Given the description of an element on the screen output the (x, y) to click on. 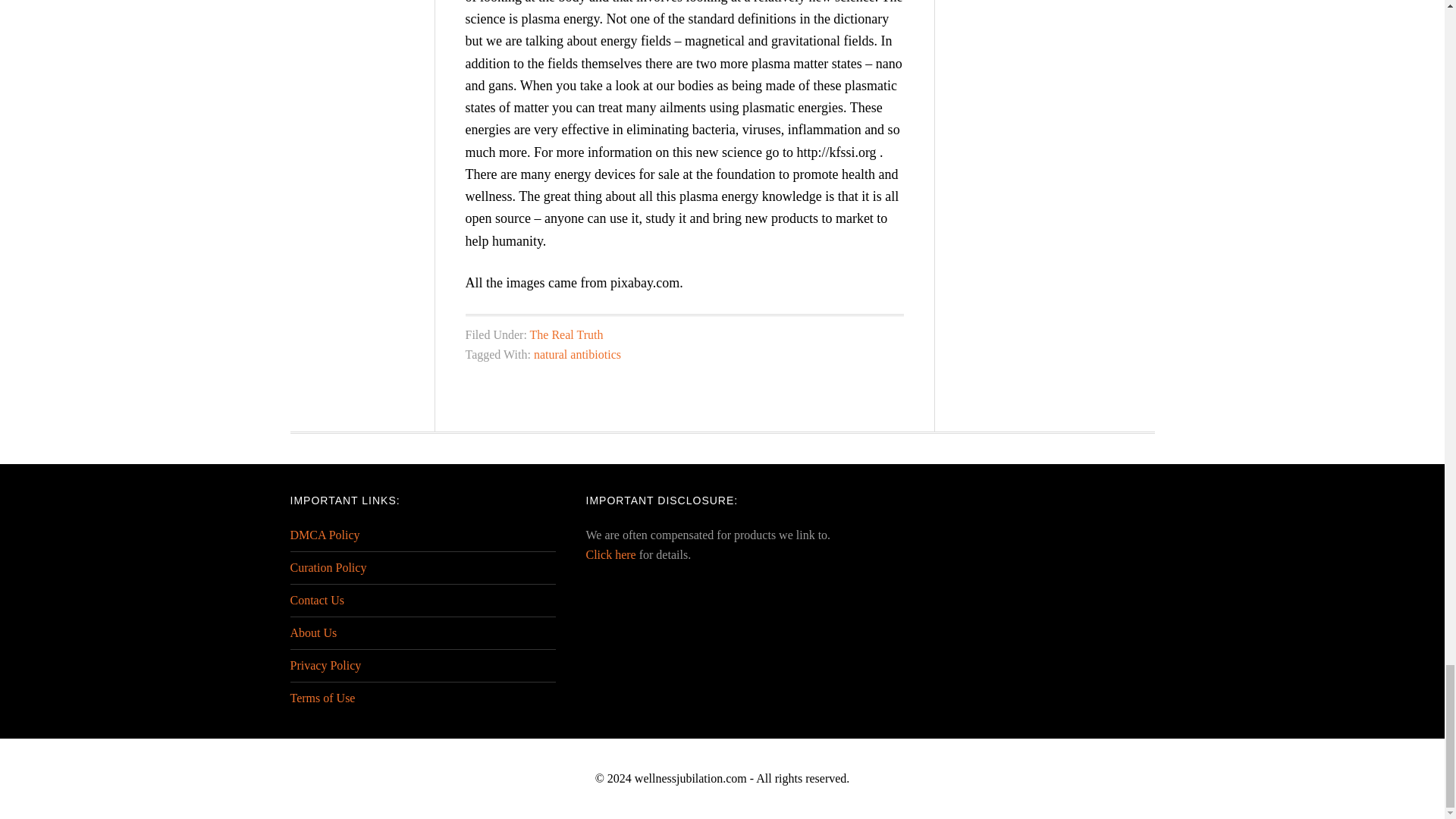
natural antibiotics (577, 354)
Terms of Use (322, 697)
About Us (312, 632)
DMCA Policy (324, 534)
The Real Truth (566, 334)
Curation Policy (327, 567)
Privacy Policy (325, 665)
Contact Us (316, 599)
Click here (609, 554)
